Given the description of an element on the screen output the (x, y) to click on. 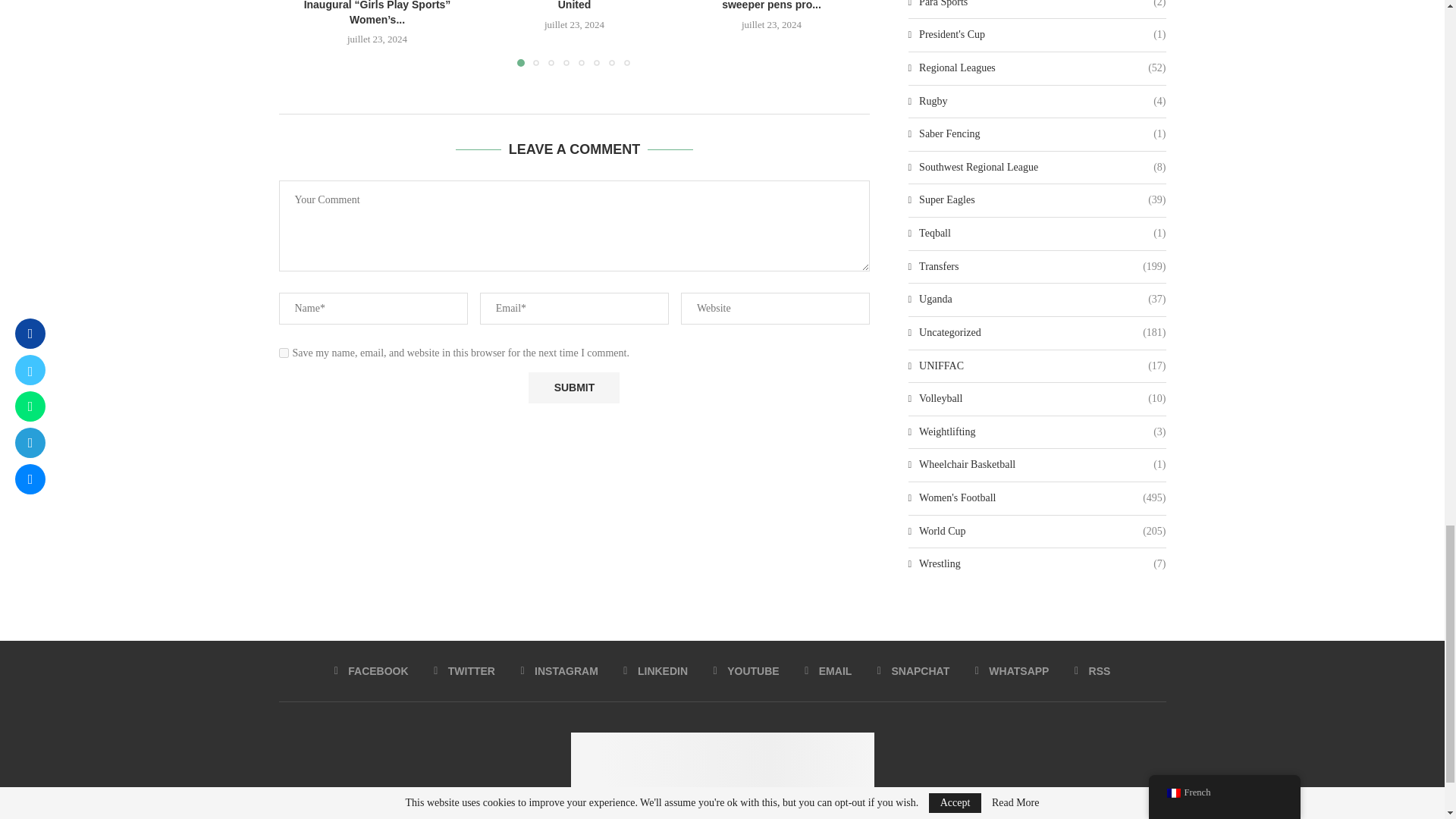
Submit (574, 387)
yes (283, 352)
